Given the description of an element on the screen output the (x, y) to click on. 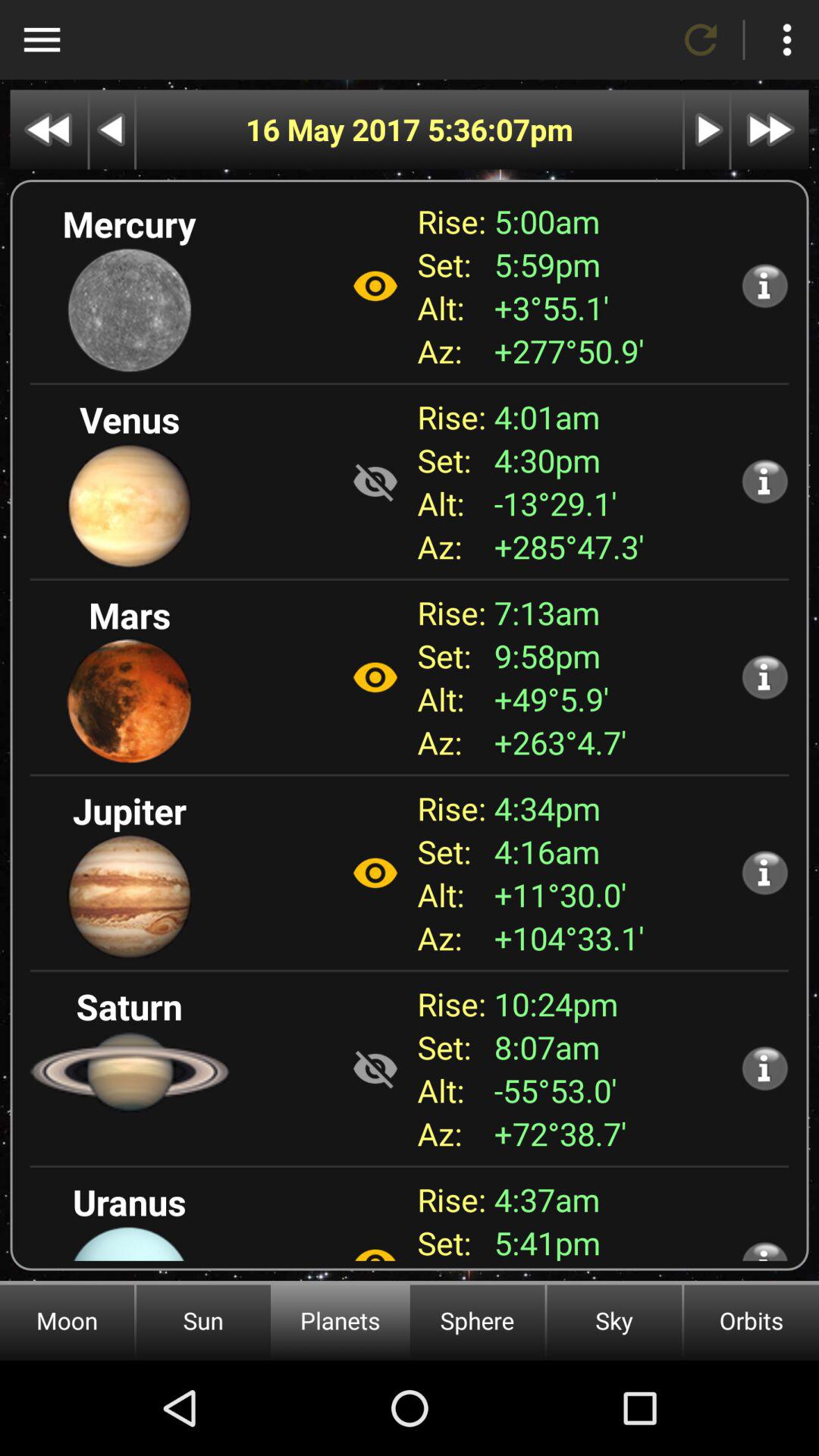
information about uranus (764, 1250)
